Given the description of an element on the screen output the (x, y) to click on. 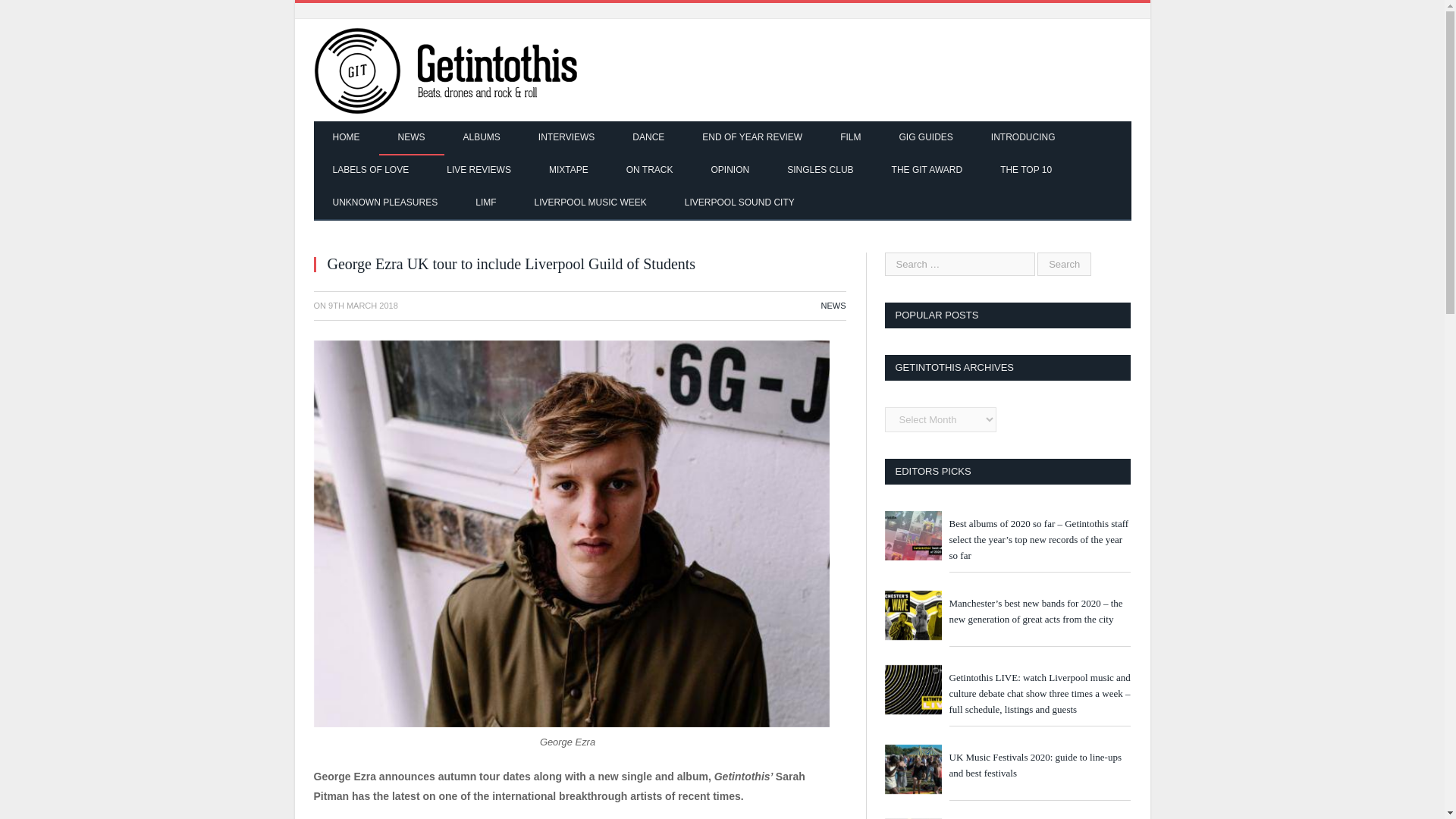
2018-03-09 (363, 305)
LIVE REVIEWS (478, 170)
FILM (850, 138)
INTERVIEWS (565, 138)
LIVERPOOL SOUND CITY (739, 203)
Search (1063, 264)
LABELS OF LOVE (371, 170)
END OF YEAR REVIEW (751, 138)
LIMF (486, 203)
Search (1063, 264)
LIVERPOOL MUSIC WEEK (590, 203)
GIG GUIDES (925, 138)
THE GIT AWARD (926, 170)
ON TRACK (650, 170)
NEWS (833, 305)
